Given the description of an element on the screen output the (x, y) to click on. 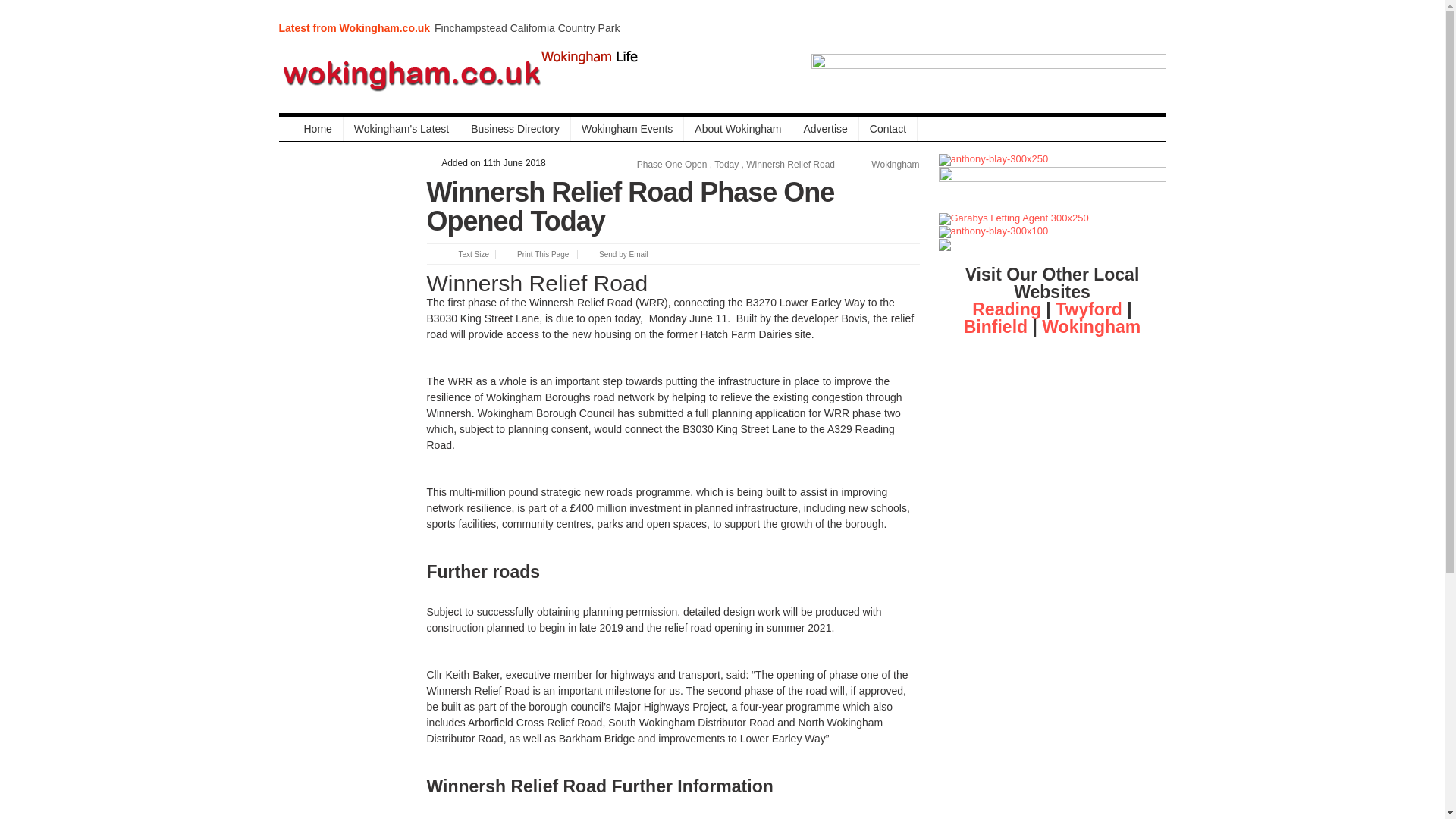
Contact (888, 128)
Business Directory (515, 128)
Increase Font Size (448, 254)
Advertise (825, 128)
Wokingham news, what's on and information (311, 128)
Wokingham's Latest (401, 128)
Winnersh Relief Road (789, 163)
Wokingham.co.uk (461, 74)
Phase One Open (672, 163)
Today (726, 163)
Home (311, 128)
About Wokingham (738, 128)
Wokingham (894, 163)
Wokingham Events (627, 128)
Print This Page (532, 254)
